Given the description of an element on the screen output the (x, y) to click on. 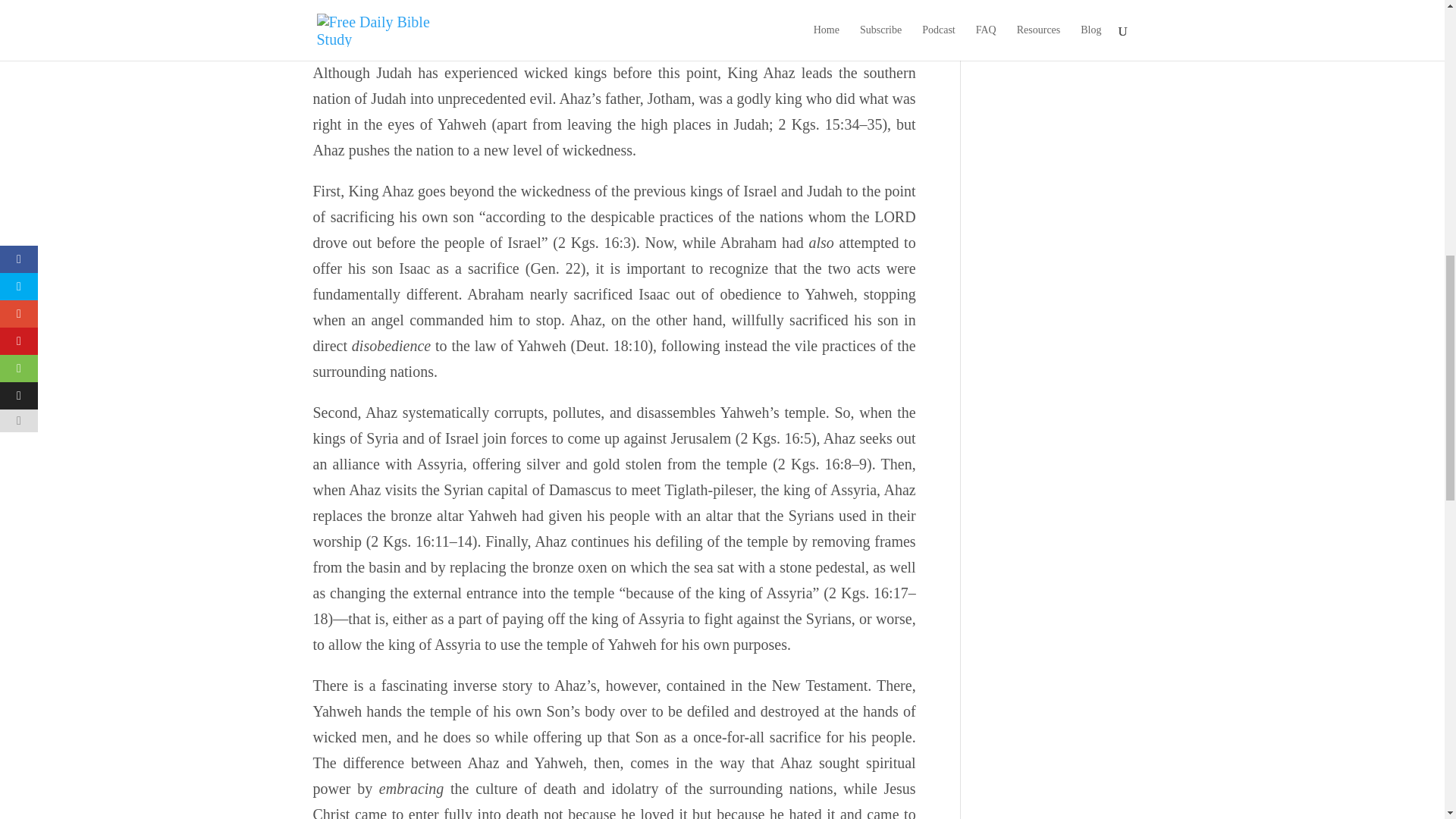
Hosea 9 (603, 31)
2 Kings 16 (478, 31)
Psalms 126 (675, 31)
Titus 2 (544, 31)
128 (774, 31)
127 (730, 31)
